Given the description of an element on the screen output the (x, y) to click on. 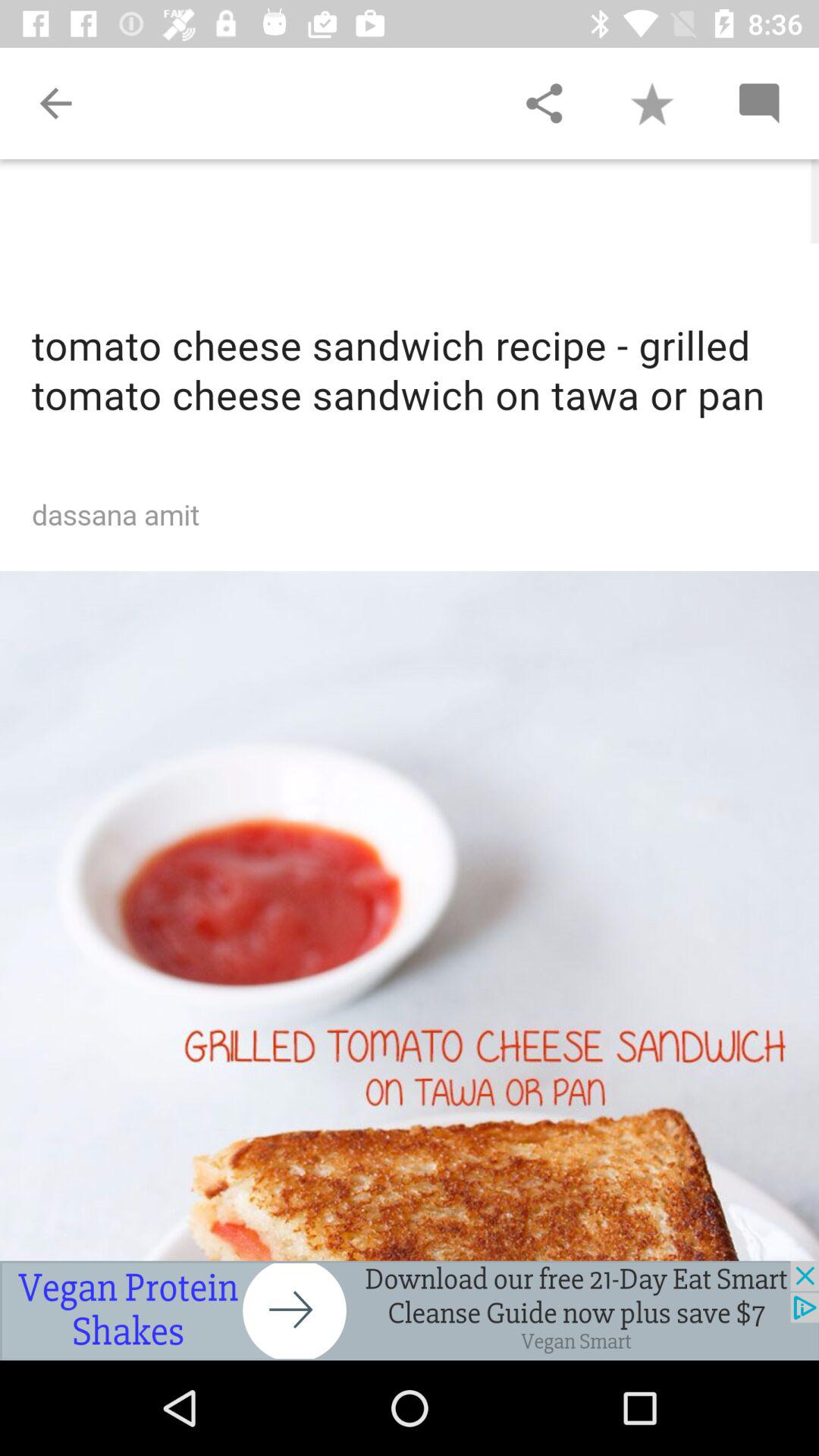
send to message (758, 103)
